Given the description of an element on the screen output the (x, y) to click on. 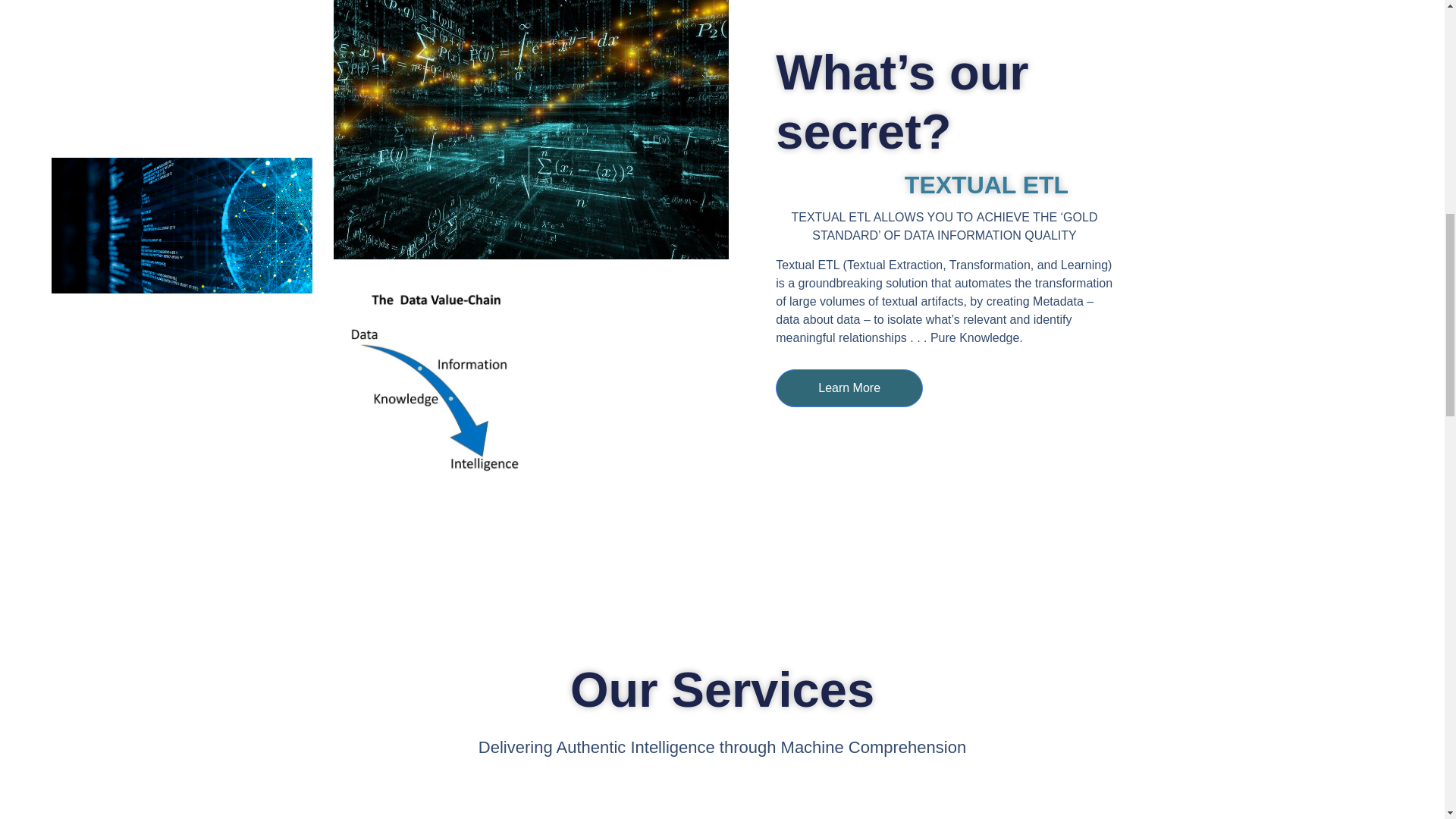
Learn More (849, 388)
